Given the description of an element on the screen output the (x, y) to click on. 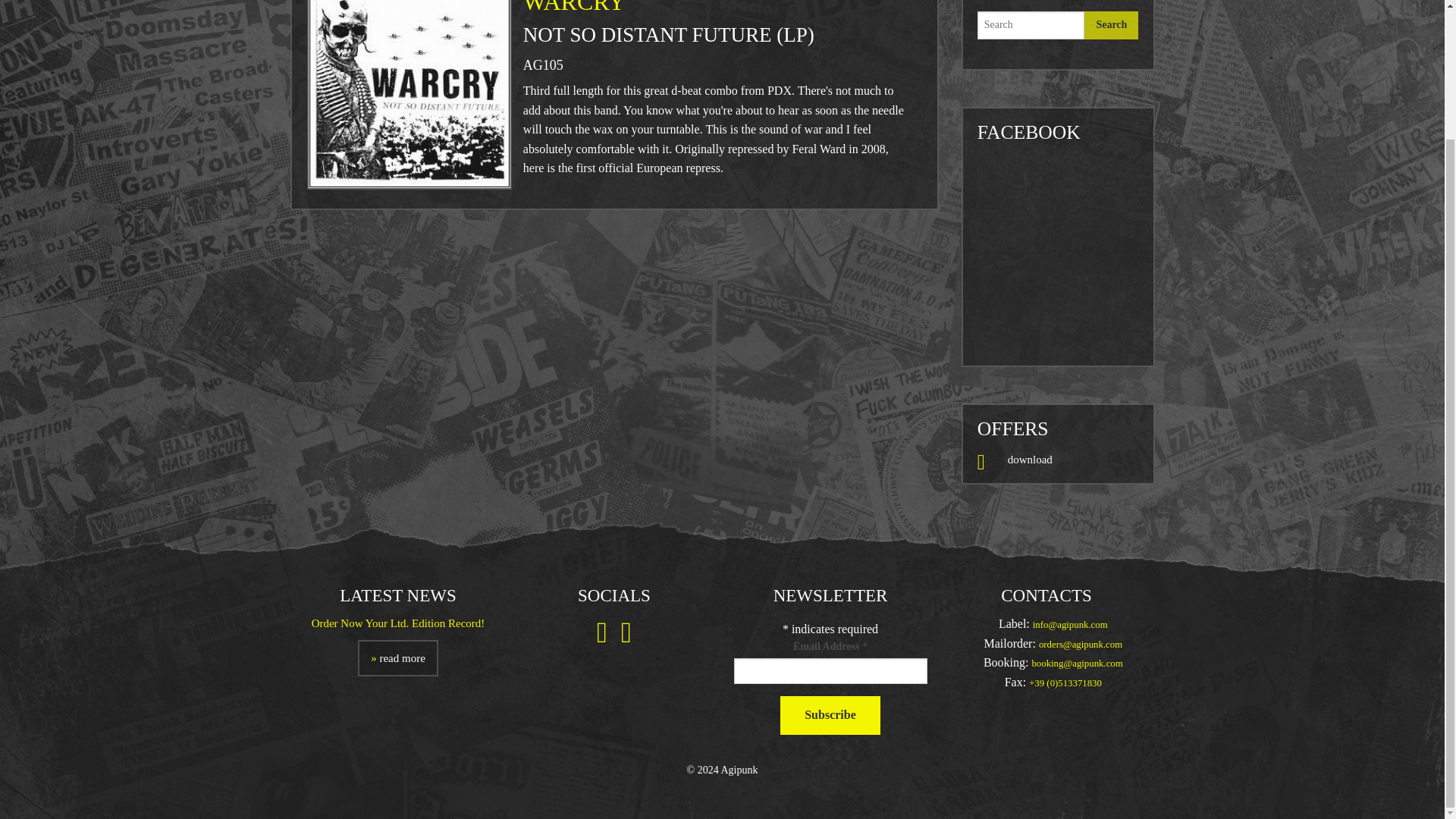
Subscribe (830, 715)
Search (1111, 25)
Search (1111, 25)
